Given the description of an element on the screen output the (x, y) to click on. 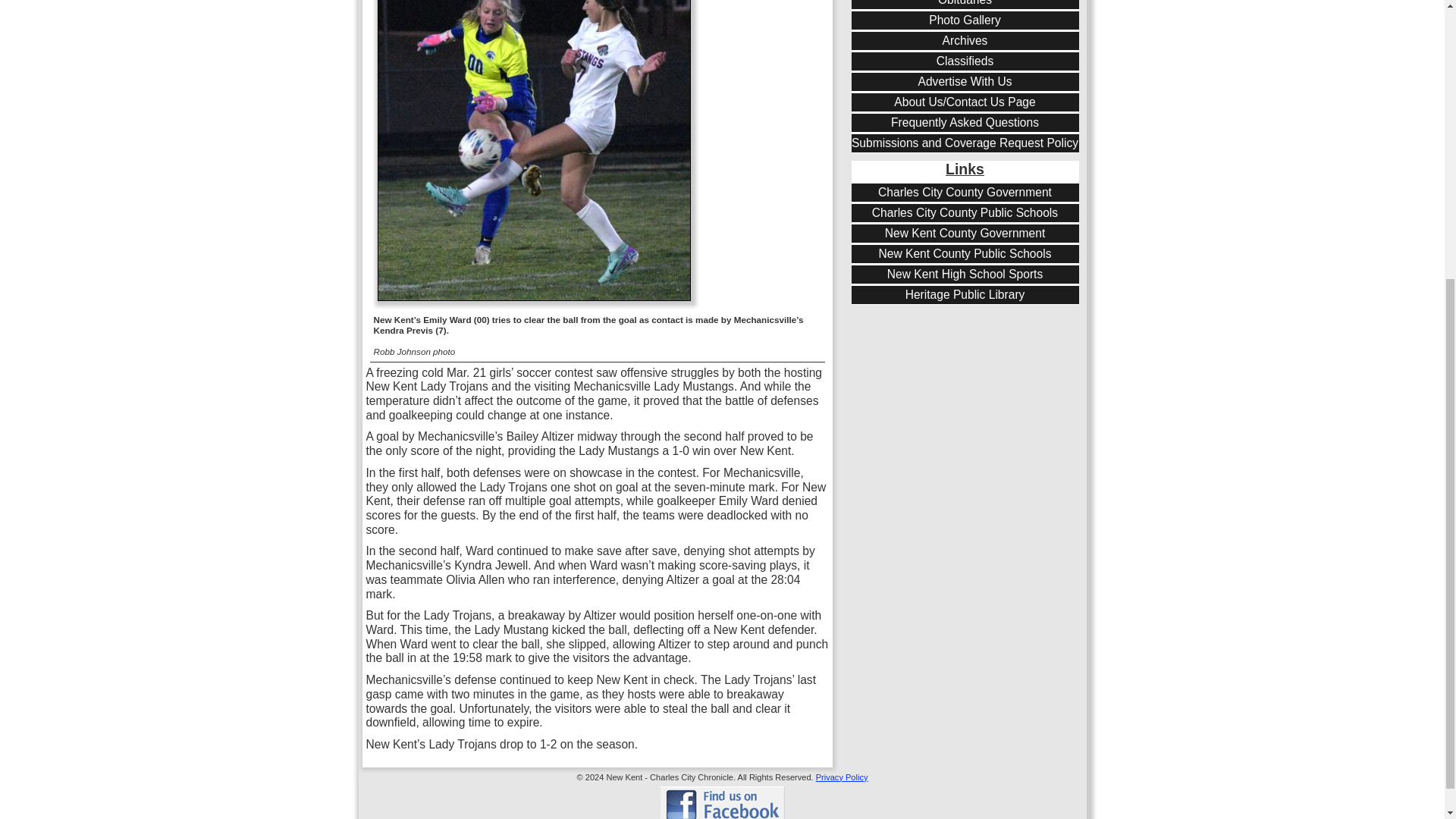
Frequently Asked Questions (964, 122)
Advertise With Us (964, 81)
Charles City County Public Schools (964, 213)
Heritage Public Library (964, 295)
Submissions and Coverage Request Policy (964, 142)
New Kent High School Sports (964, 274)
Charles City County Government (964, 192)
New Kent County Government (964, 233)
Archives (964, 40)
New Kent County Public Schools (964, 254)
Privacy Policy (841, 777)
Classifieds (964, 60)
Photo Gallery (964, 20)
Obituaries (964, 3)
